Given the description of an element on the screen output the (x, y) to click on. 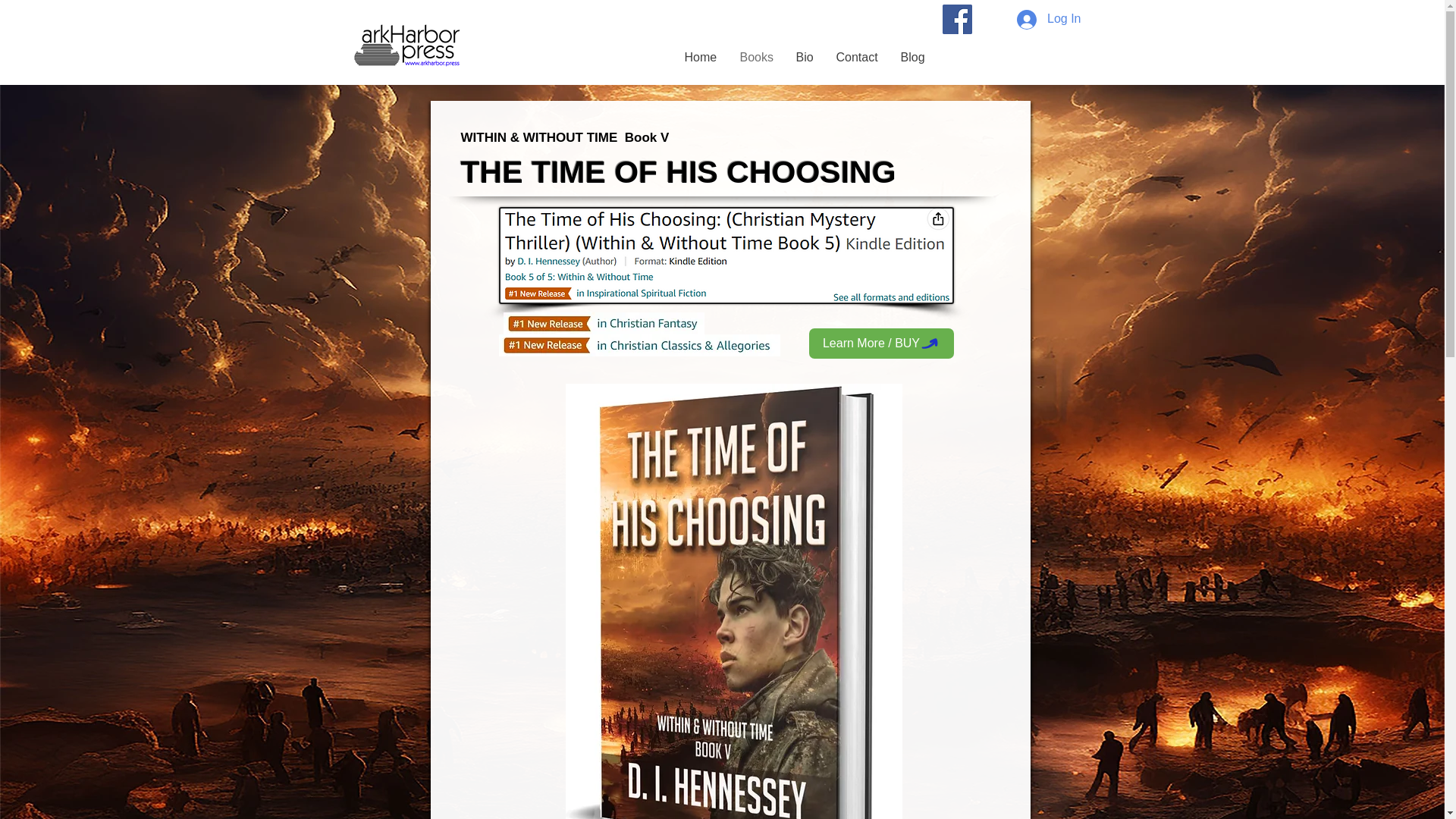
D. I. HENNESSEY (565, 55)
Log In (1048, 18)
Bio (804, 57)
Author (525, 32)
Home... (405, 45)
Home (700, 57)
Contact (857, 57)
Books (756, 57)
Blog (912, 57)
